Given the description of an element on the screen output the (x, y) to click on. 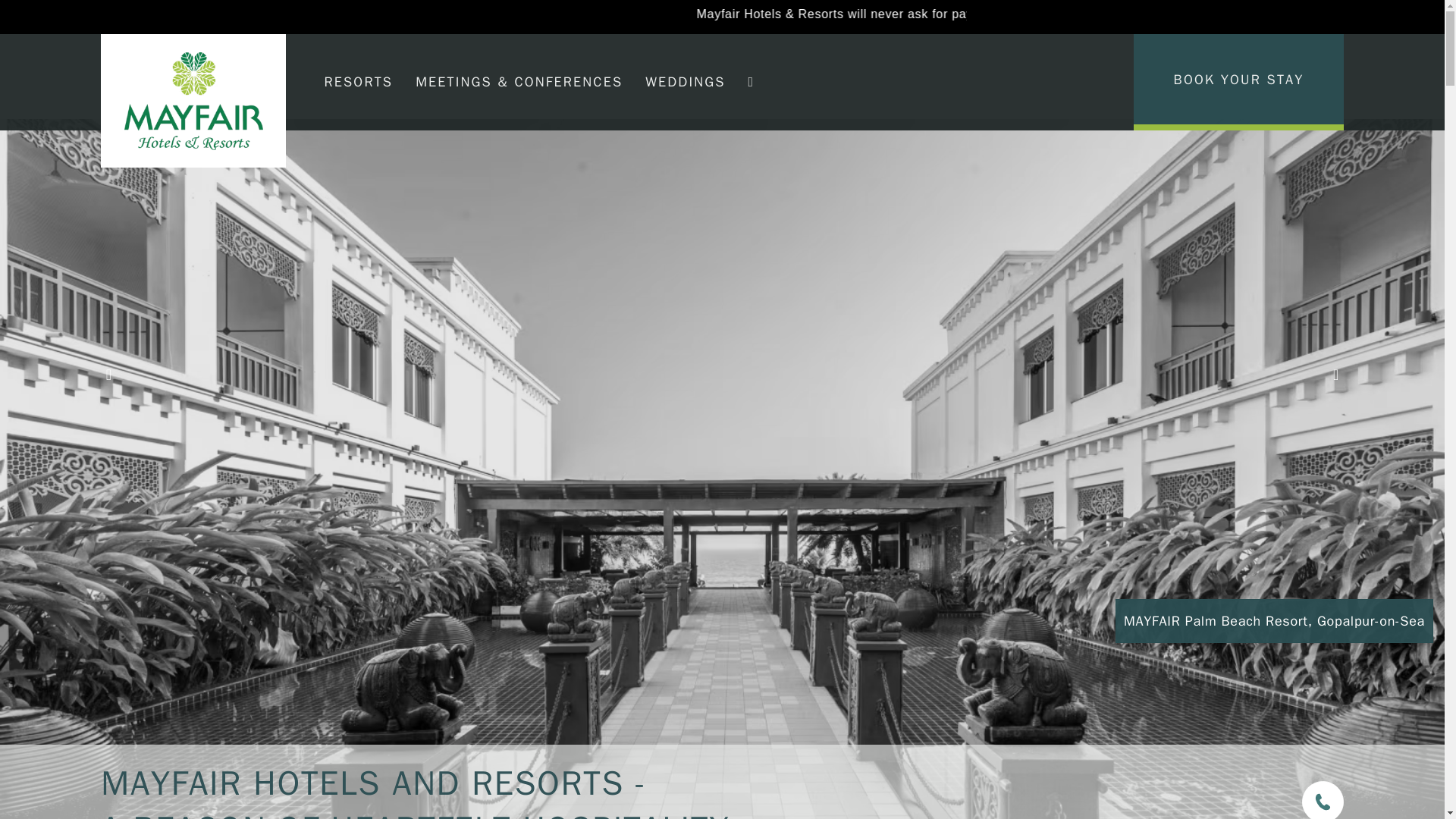
BOOK YOUR STAY (1238, 82)
